Given the description of an element on the screen output the (x, y) to click on. 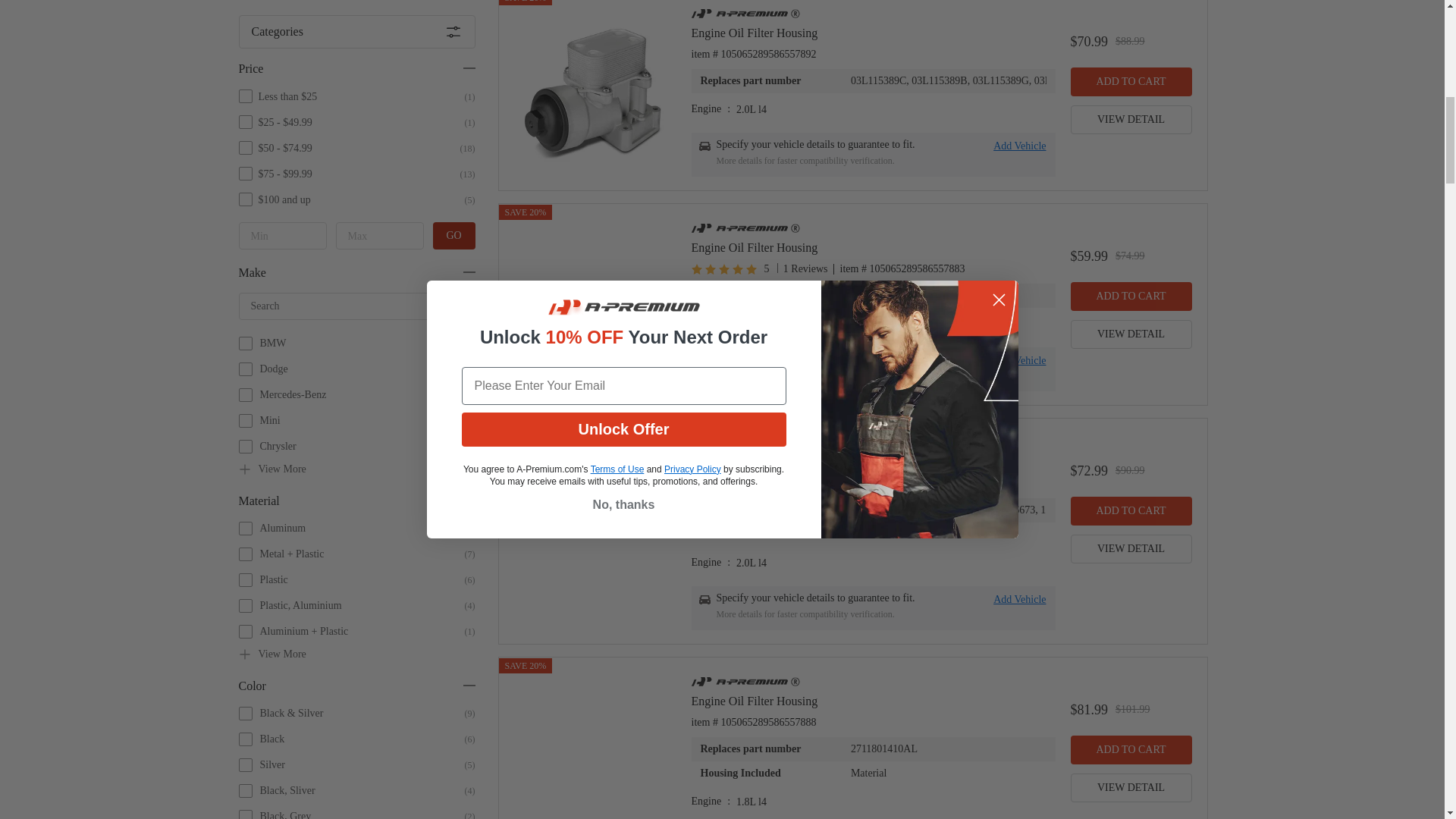
ADD TO CART (1131, 510)
Engine Oil Filter Housing (873, 33)
VIEW DETAIL (1131, 787)
Aluminum (366, 6)
Engine Oil Filter Housing (873, 462)
VIEW DETAIL (1131, 119)
Engine Oil Filter Housing (873, 247)
ADD TO CART (1131, 81)
Engine Oil Filter Housing (873, 701)
VIEW DETAIL (1131, 334)
ADD TO CART (1131, 296)
ADD TO CART (1131, 749)
VIEW DETAIL (1131, 548)
